Given the description of an element on the screen output the (x, y) to click on. 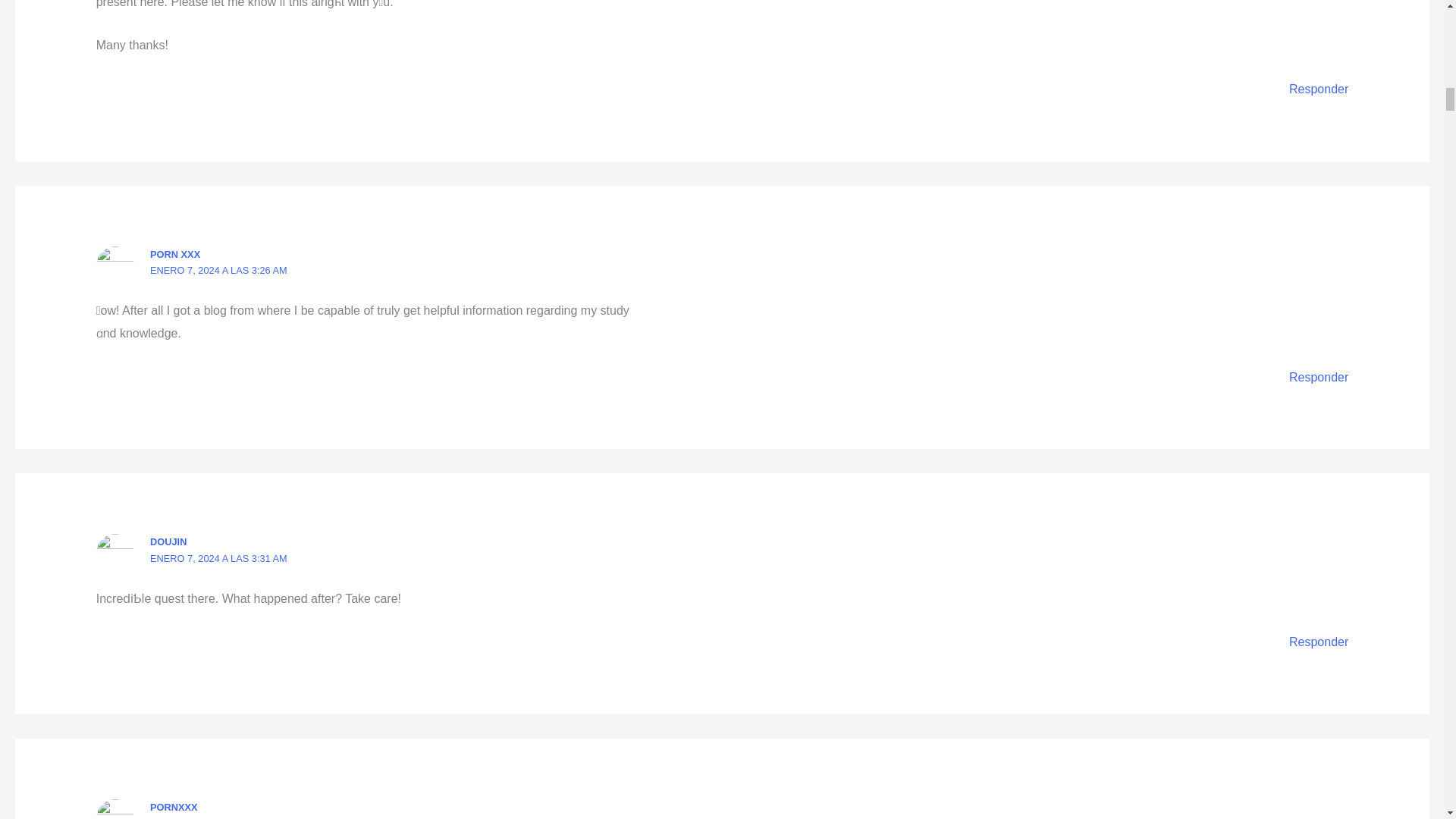
Responder (1318, 88)
PORN XXX (174, 254)
ENERO 7, 2024 A LAS 3:26 AM (217, 270)
Responder (1318, 377)
DOUJIN (167, 541)
